Given the description of an element on the screen output the (x, y) to click on. 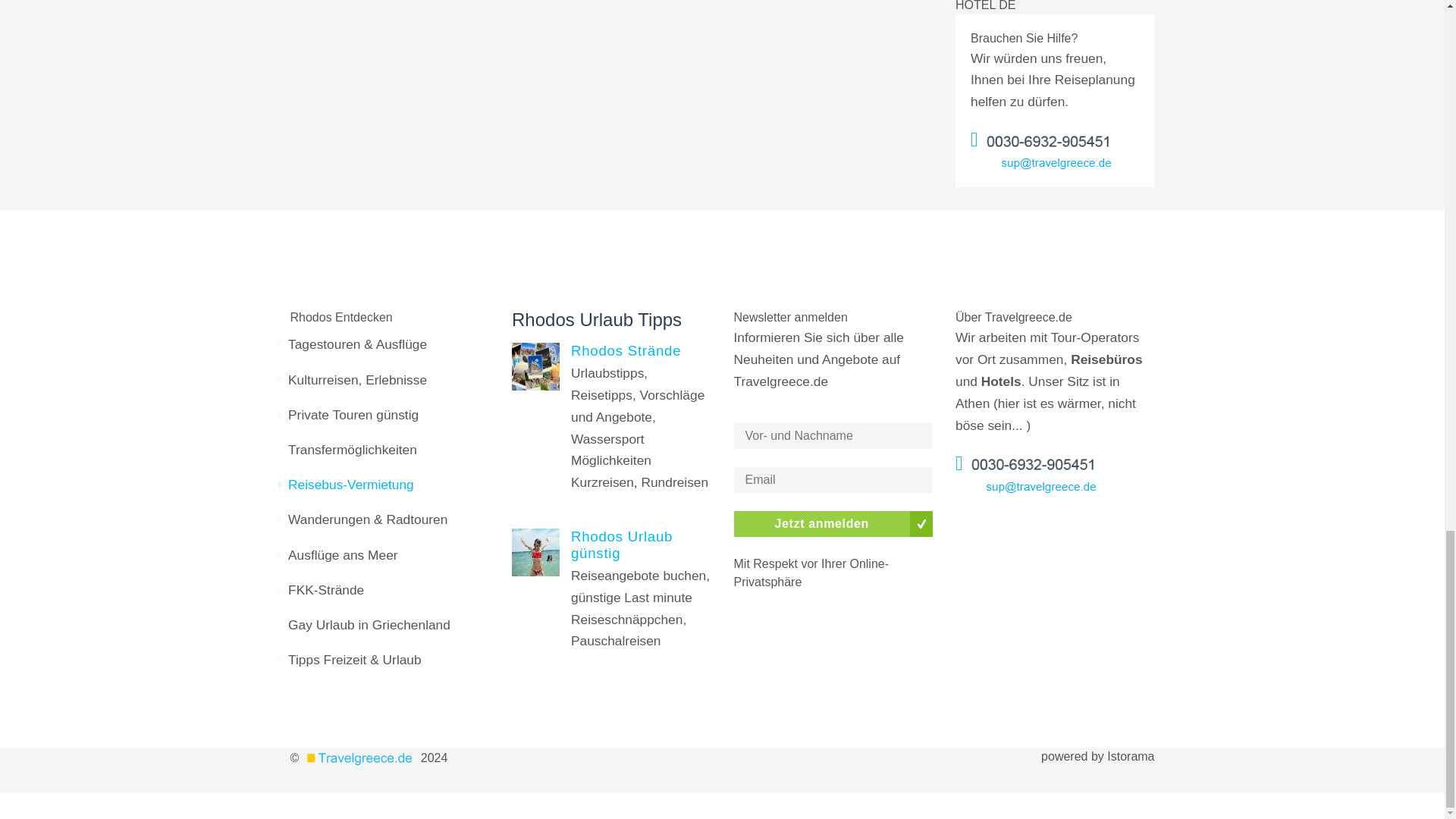
Email (833, 479)
Namen (833, 435)
